Given the description of an element on the screen output the (x, y) to click on. 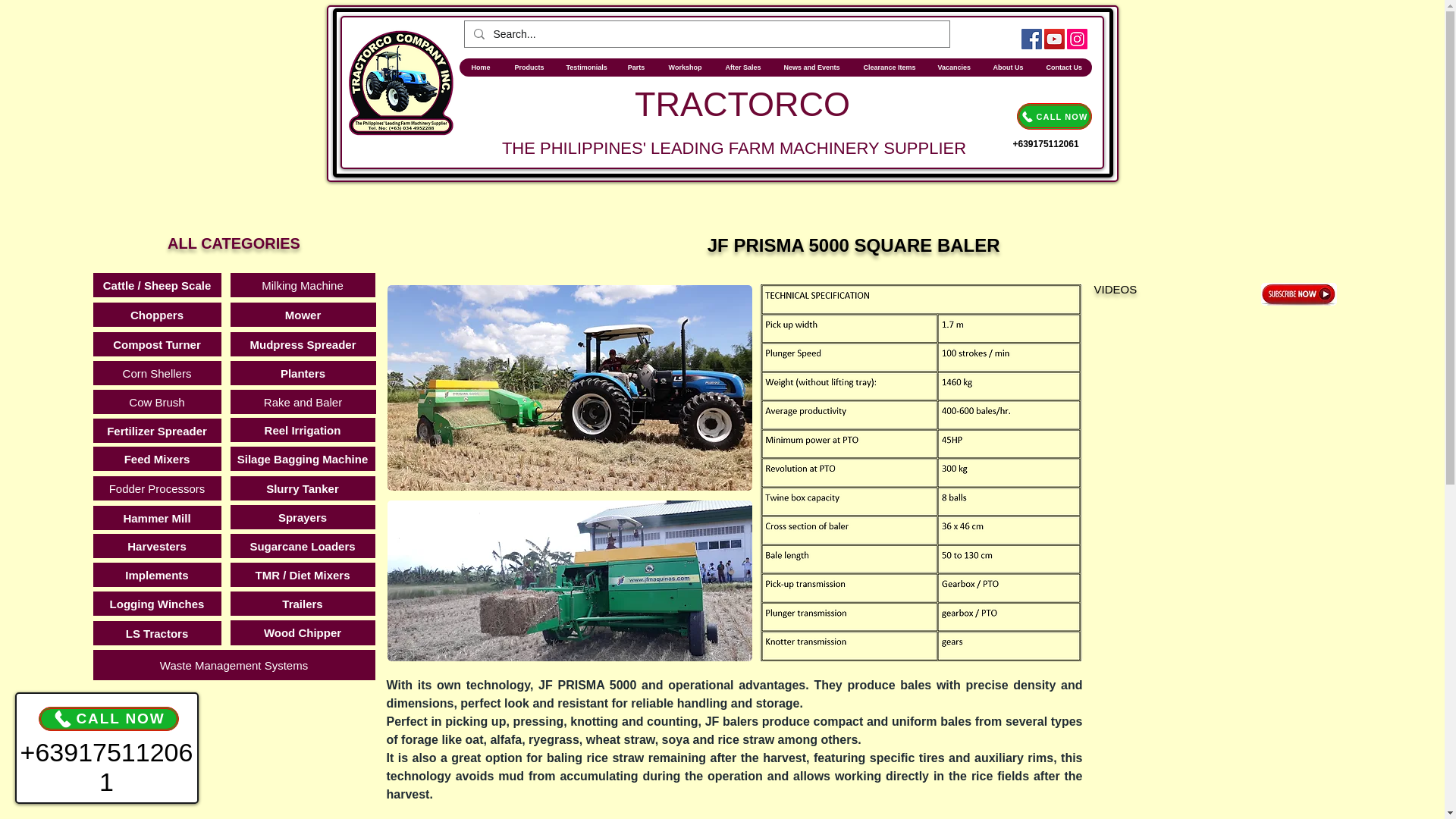
Fertilizer Spreader (157, 430)
Workshop (684, 67)
After Sales (742, 67)
Home (481, 67)
Contact Us (1062, 67)
About Us (1007, 67)
News and Events (811, 67)
Fodder Processors (157, 487)
Testimonials (583, 67)
Compost Turner (157, 344)
Products (527, 67)
Parts (635, 67)
CALL NOW (1053, 116)
Cow Brush (157, 401)
Choppers (157, 314)
